Given the description of an element on the screen output the (x, y) to click on. 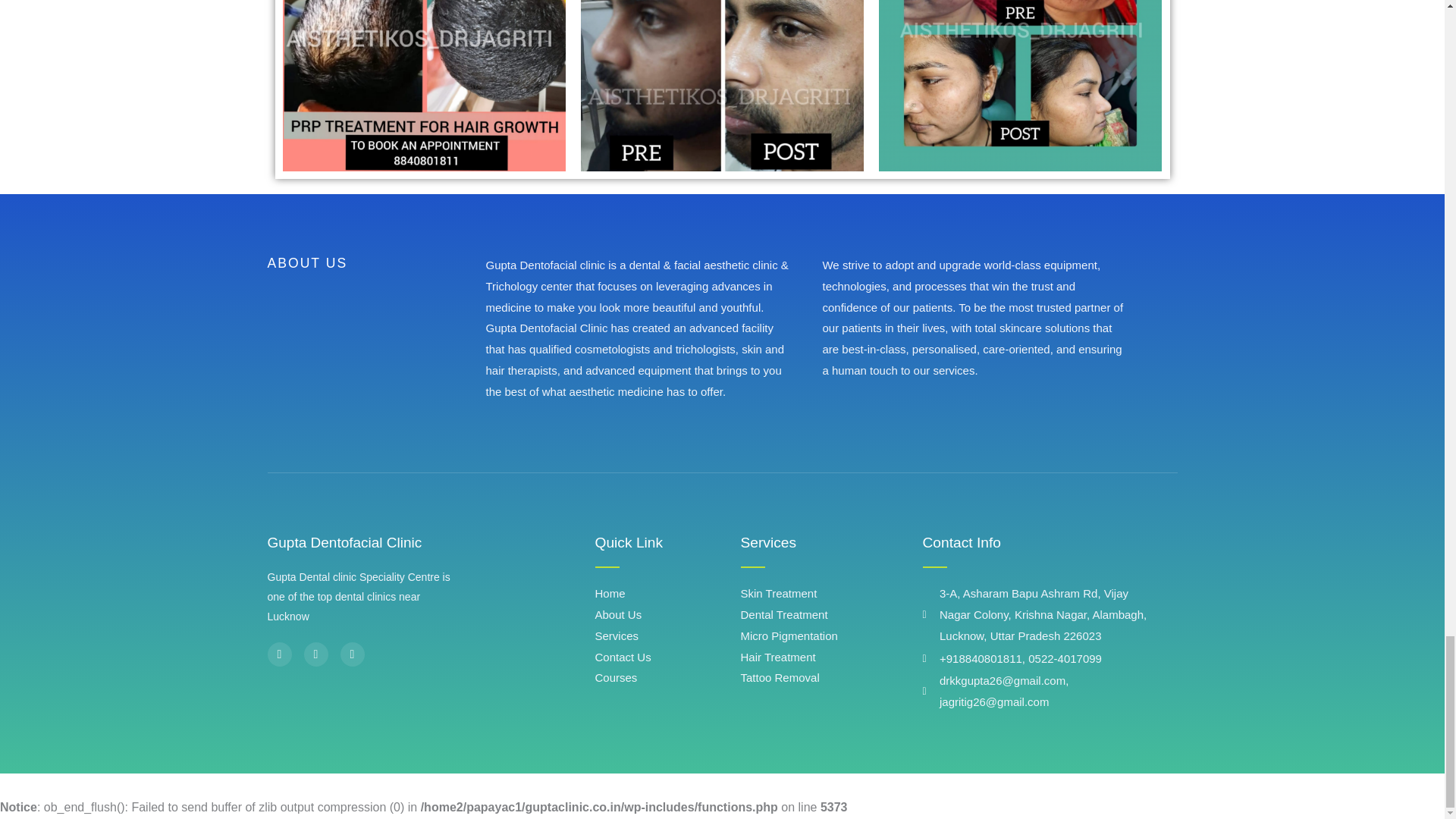
Micro Pigmentation (830, 636)
Youtube (351, 654)
Home (666, 593)
Hair Treatment (830, 657)
Services (666, 636)
Facebook (278, 654)
Contact Us (666, 657)
Instagram (314, 654)
Dental Treatment (830, 614)
About Us (666, 614)
Courses (666, 677)
Skin Treatment (830, 593)
